Given the description of an element on the screen output the (x, y) to click on. 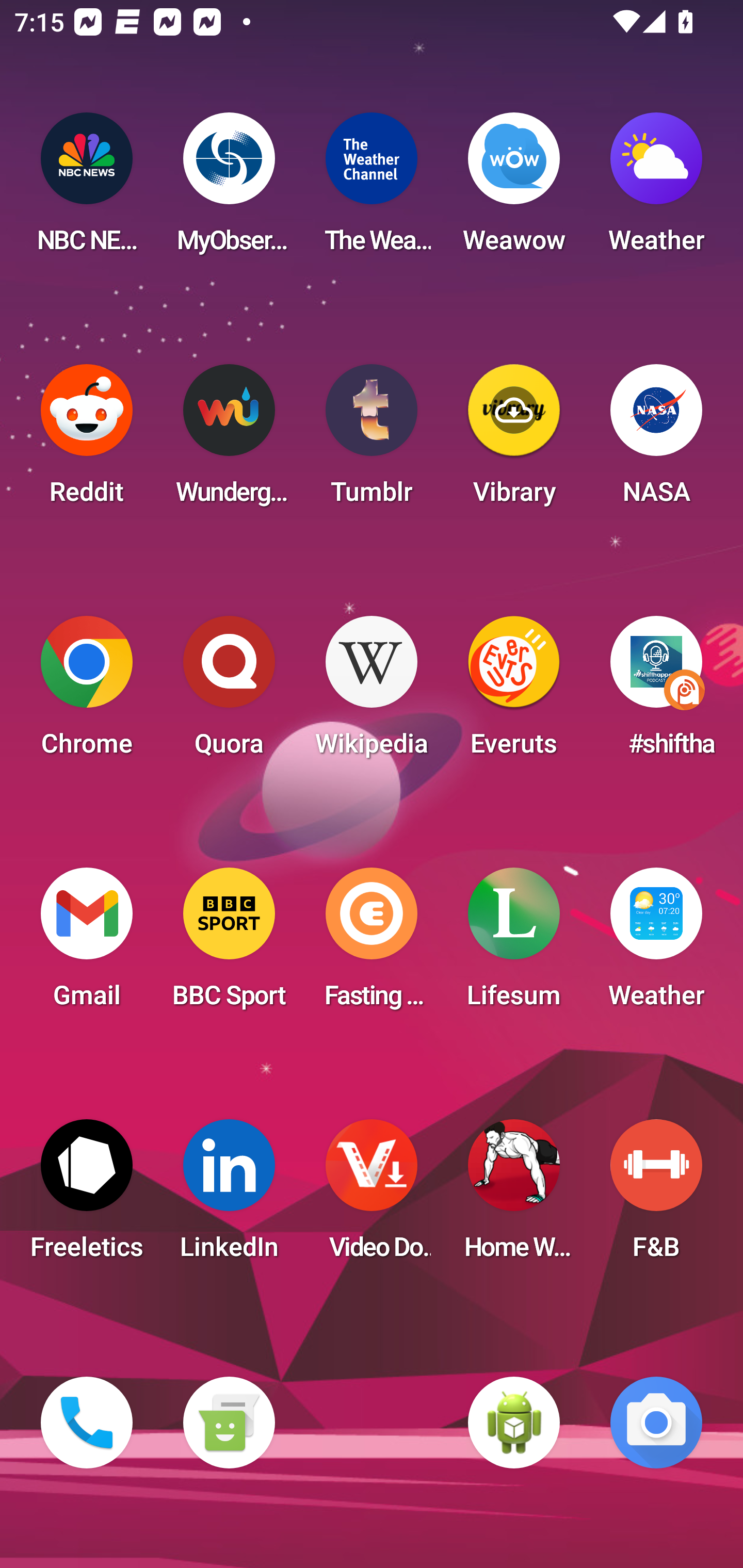
NBC NEWS (86, 188)
MyObservatory (228, 188)
The Weather Channel (371, 188)
Weawow (513, 188)
Weather (656, 188)
Reddit (86, 440)
Wunderground (228, 440)
Tumblr (371, 440)
Vibrary (513, 440)
NASA (656, 440)
Chrome (86, 692)
Quora (228, 692)
Wikipedia (371, 692)
Everuts (513, 692)
#shifthappens in the Digital Workplace Podcast (656, 692)
Gmail (86, 943)
BBC Sport (228, 943)
Fasting Coach (371, 943)
Lifesum (513, 943)
Weather (656, 943)
Freeletics (86, 1195)
LinkedIn (228, 1195)
Video Downloader & Ace Player (371, 1195)
Home Workout (513, 1195)
F&B (656, 1195)
Phone (86, 1422)
Messaging (228, 1422)
WebView Browser Tester (513, 1422)
Camera (656, 1422)
